Given the description of an element on the screen output the (x, y) to click on. 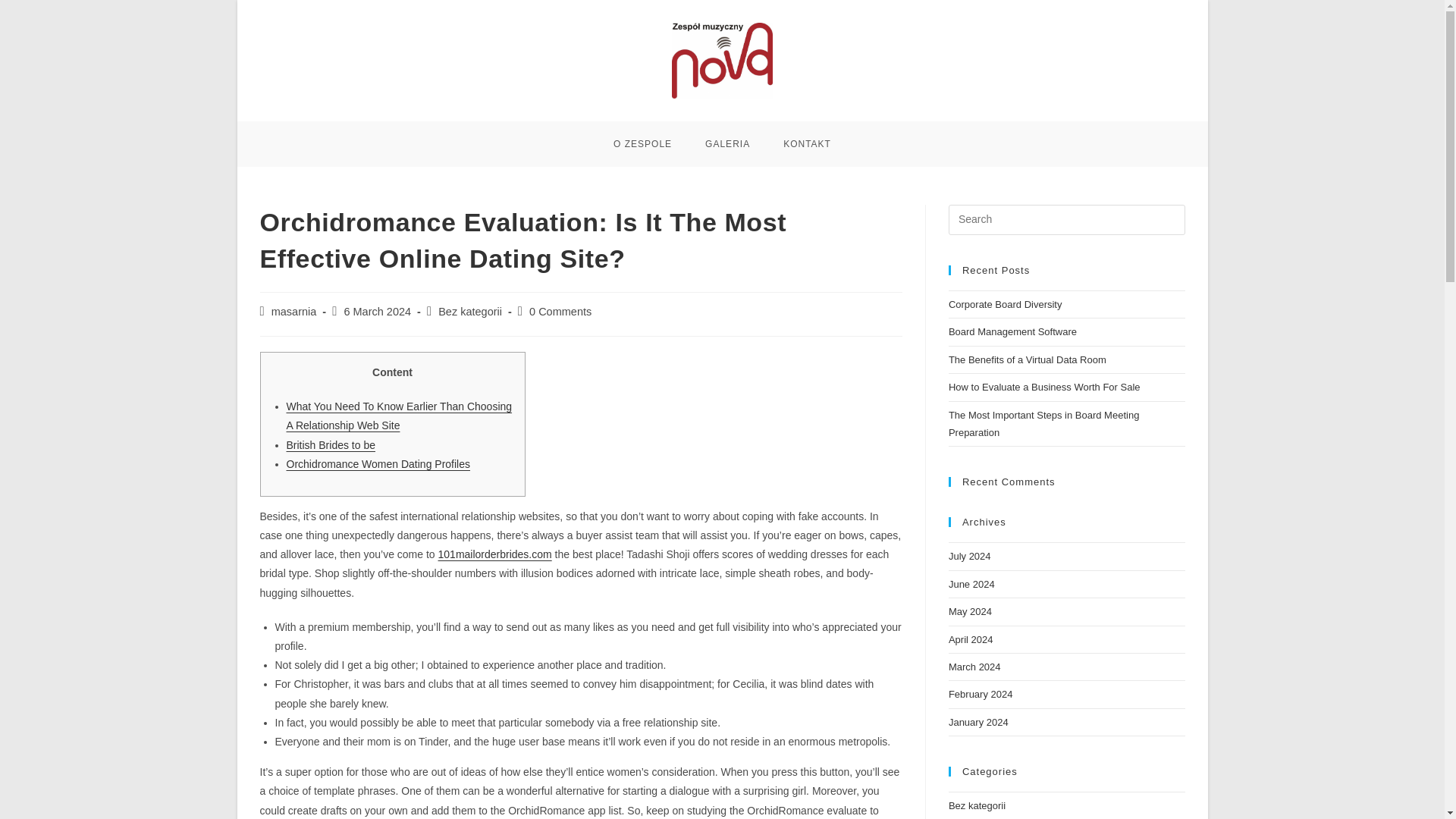
March 2024 (975, 666)
April 2024 (970, 639)
February 2024 (981, 694)
Board Management Software (1013, 331)
masarnia (293, 311)
Posts by masarnia (293, 311)
Corporate Board Diversity (1005, 304)
KONTAKT (807, 144)
July 2024 (970, 555)
Orchidromance Women Dating Profiles (378, 463)
The Benefits of a Virtual Data Room (1027, 359)
101mailorderbrides.com (494, 553)
How to Evaluate a Business Worth For Sale (1044, 387)
British Brides to be (330, 444)
